Given the description of an element on the screen output the (x, y) to click on. 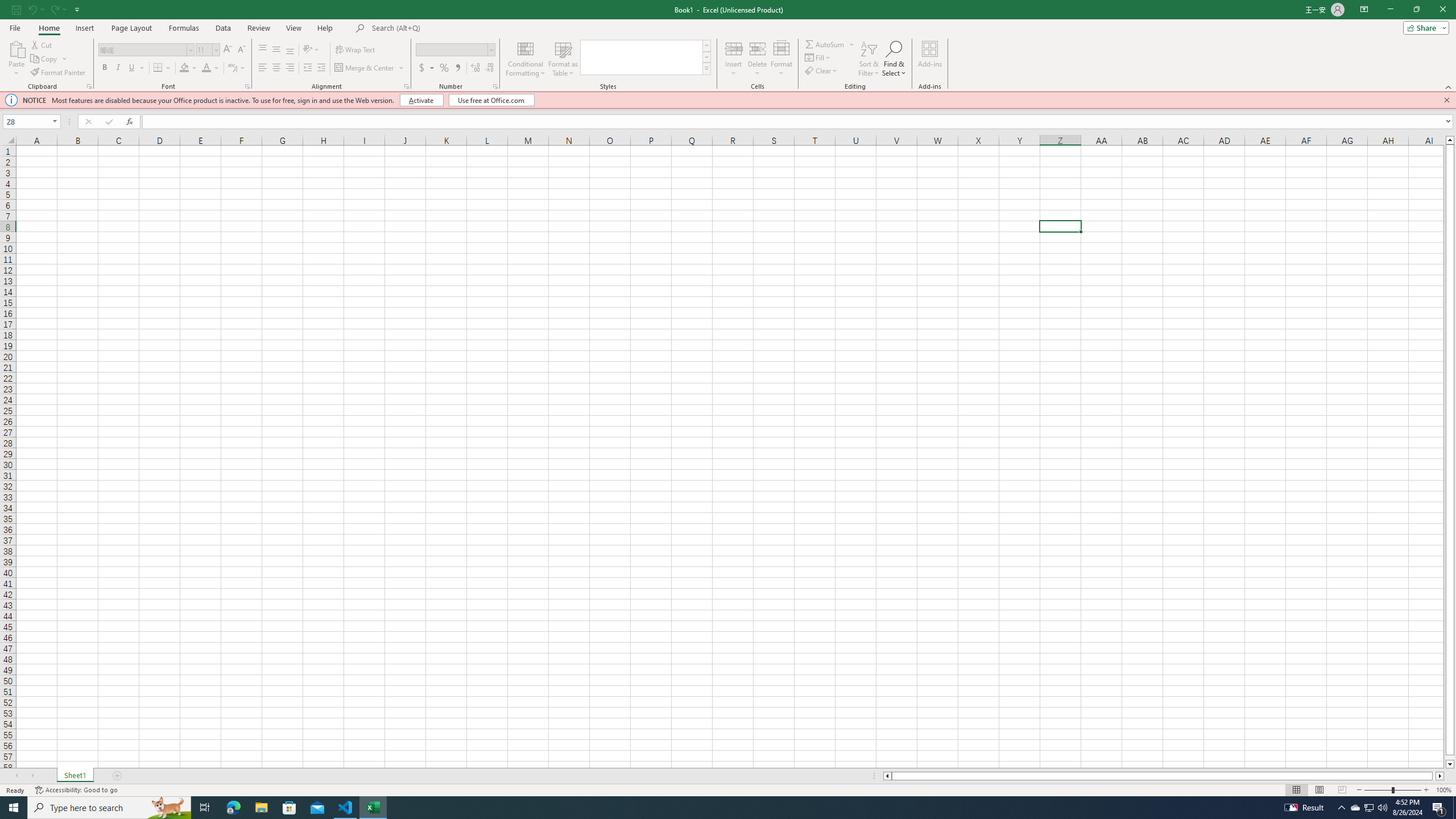
Font Color (206, 67)
Fill Color (188, 67)
Decrease Indent (307, 67)
Insert Cells (733, 48)
